Given the description of an element on the screen output the (x, y) to click on. 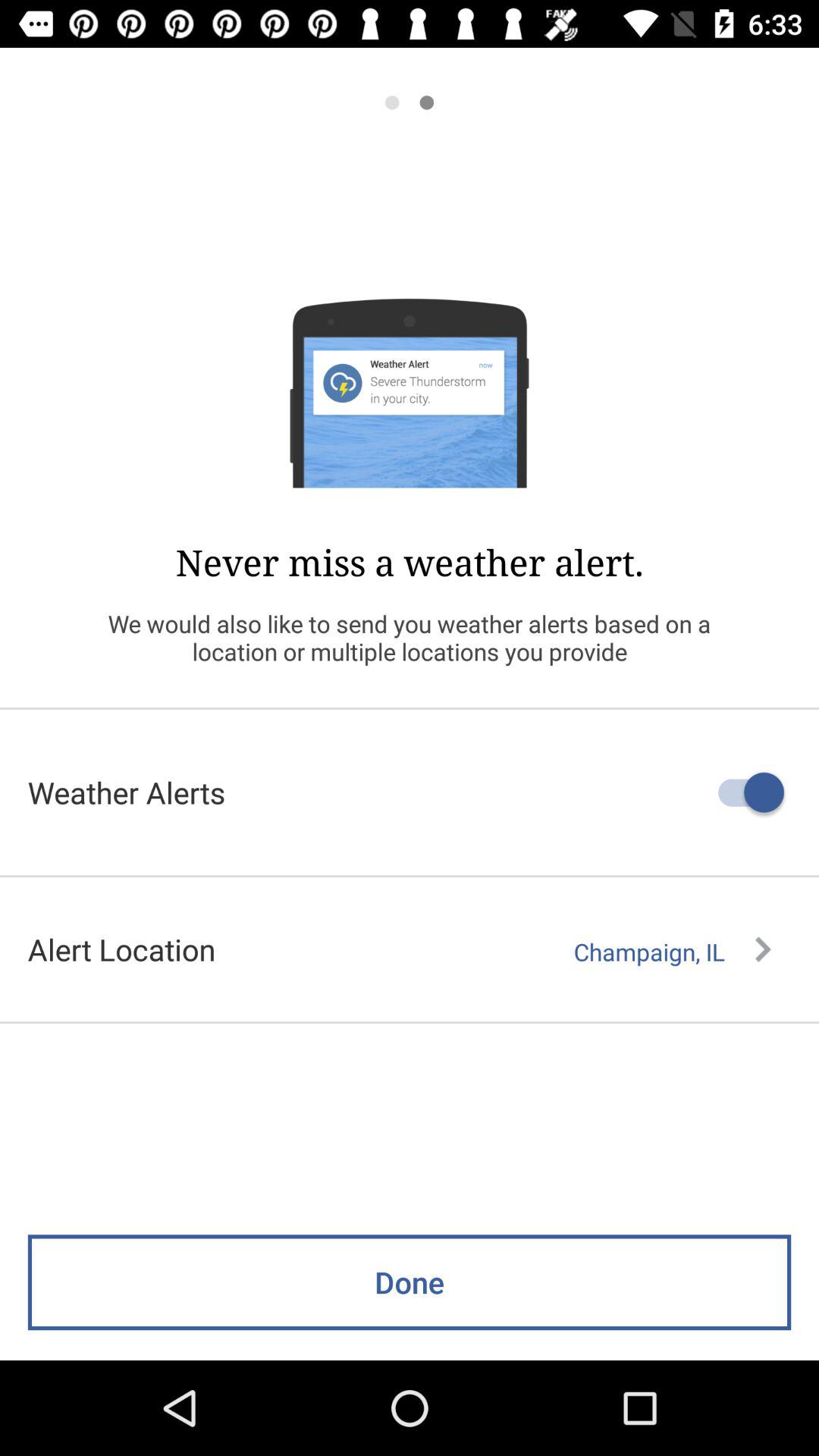
scroll to done item (409, 1282)
